Given the description of an element on the screen output the (x, y) to click on. 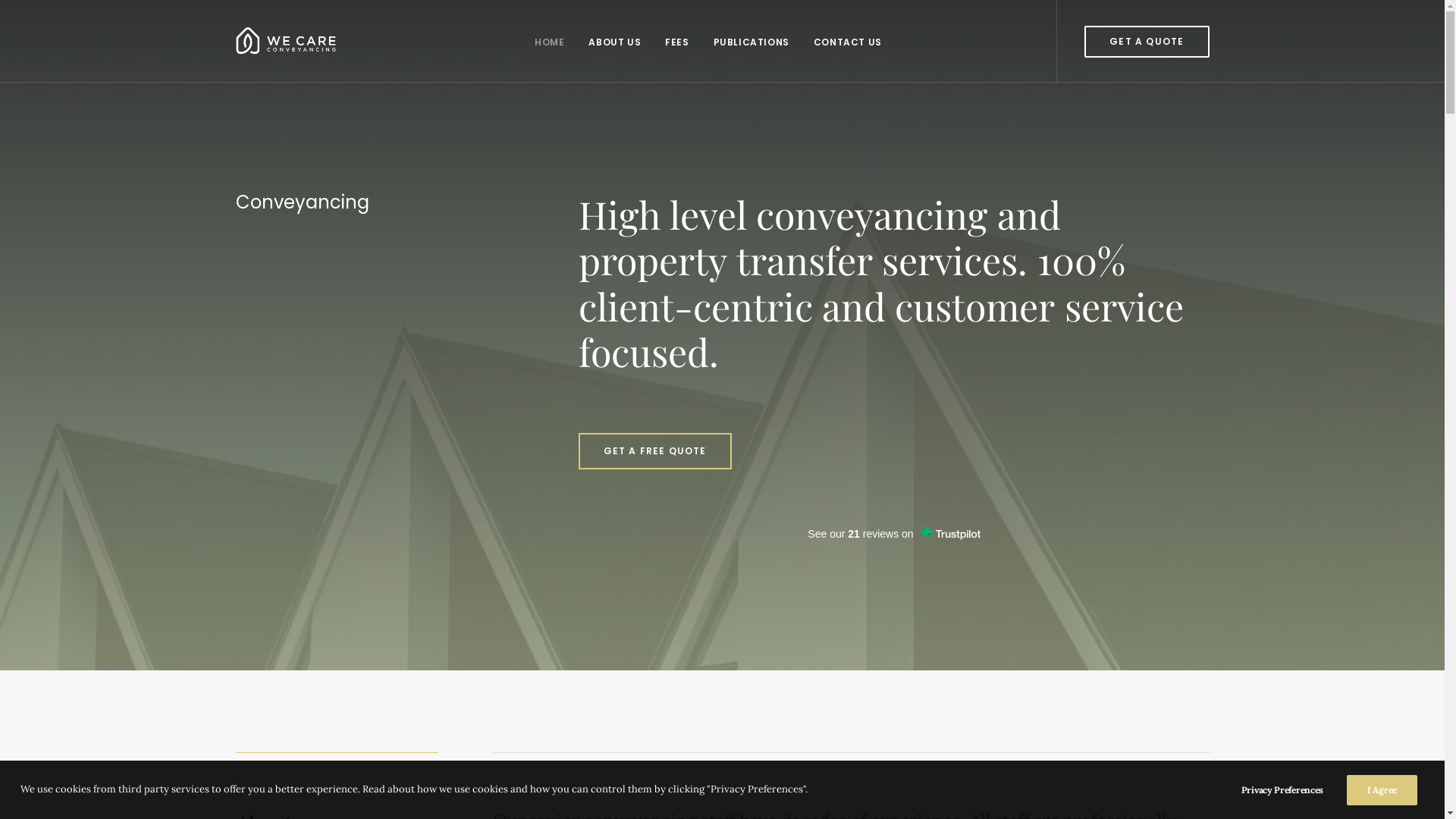
GET A FREE QUOTE Element type: text (654, 451)
I Agree Element type: text (1381, 790)
CONTACT US Element type: text (847, 40)
ABOUT US Element type: text (614, 40)
GET A QUOTE Element type: text (1146, 41)
FEES Element type: text (676, 40)
Privacy Preferences Element type: text (1292, 789)
Customer reviews powered by Trustpilot Element type: hover (892, 542)
PUBLICATIONS Element type: text (751, 40)
HOME Element type: text (549, 40)
